Given the description of an element on the screen output the (x, y) to click on. 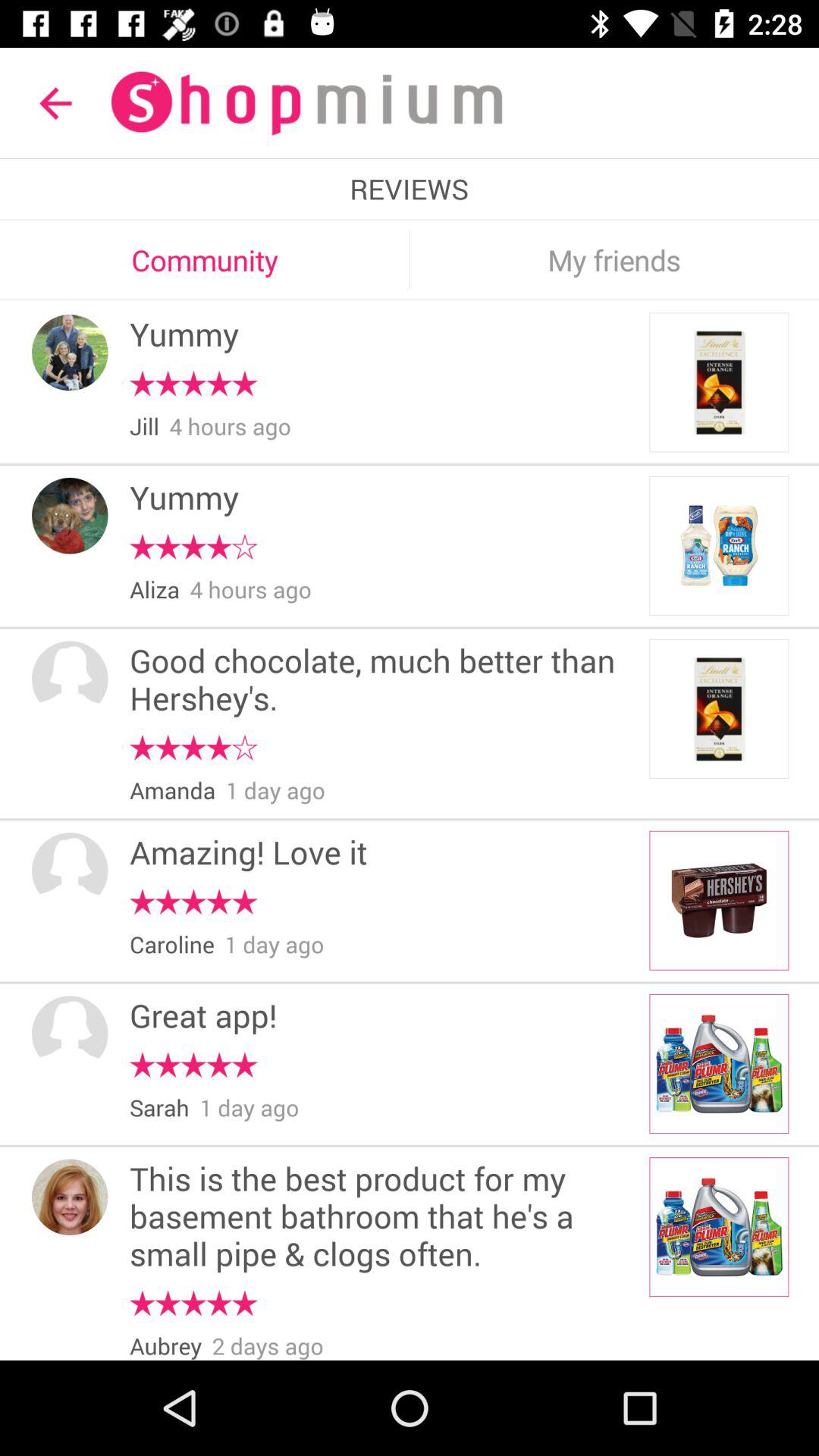
choose the item above the sarah (193, 1064)
